Given the description of an element on the screen output the (x, y) to click on. 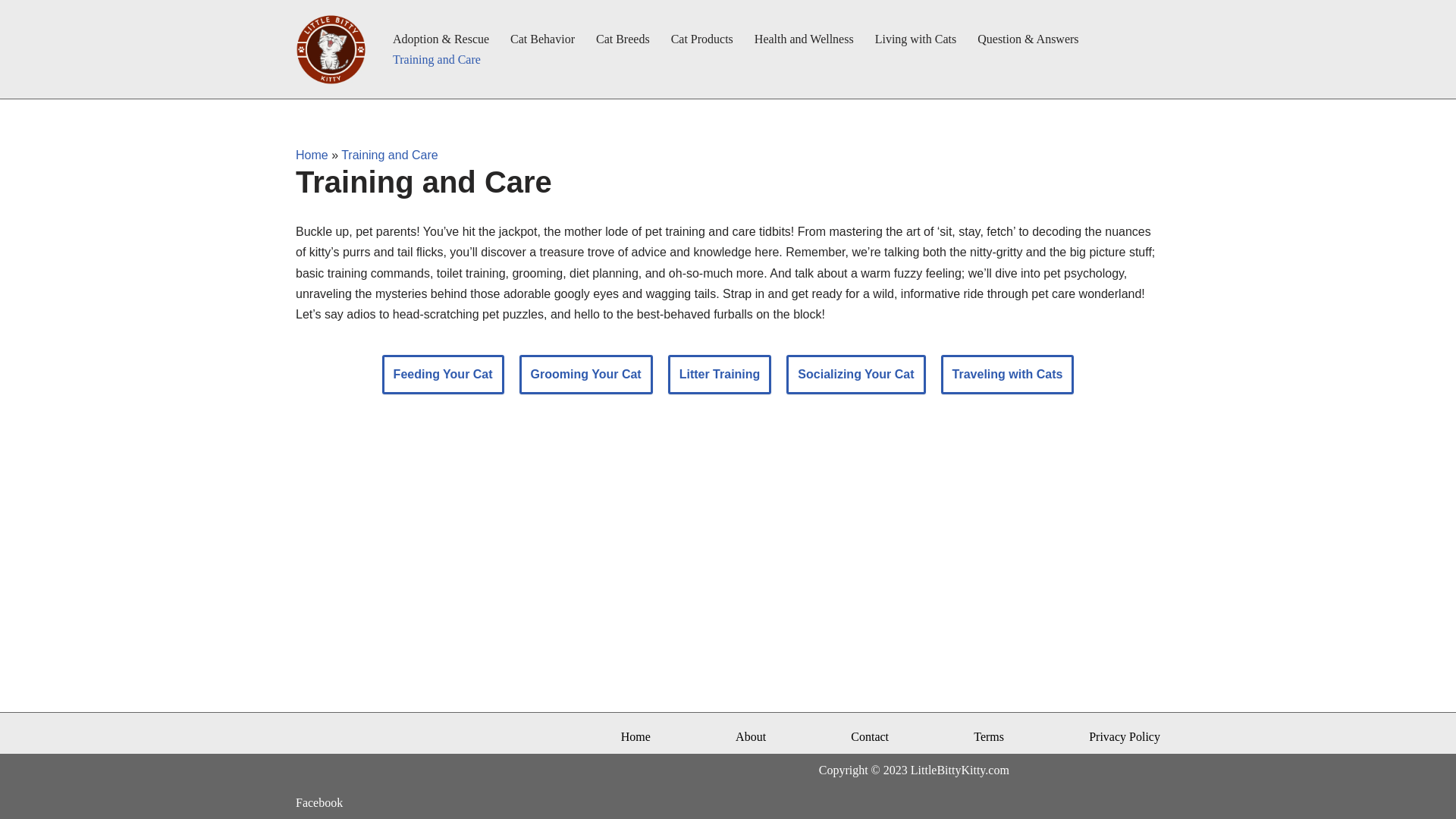
Terms (989, 736)
Contact (869, 736)
Training and Care (389, 154)
Privacy Policy (1124, 736)
Living with Cats (915, 38)
Litter Training (719, 373)
Skip to content (11, 31)
About (750, 736)
Cat Products (702, 38)
Grooming Your Cat (585, 373)
